Given the description of an element on the screen output the (x, y) to click on. 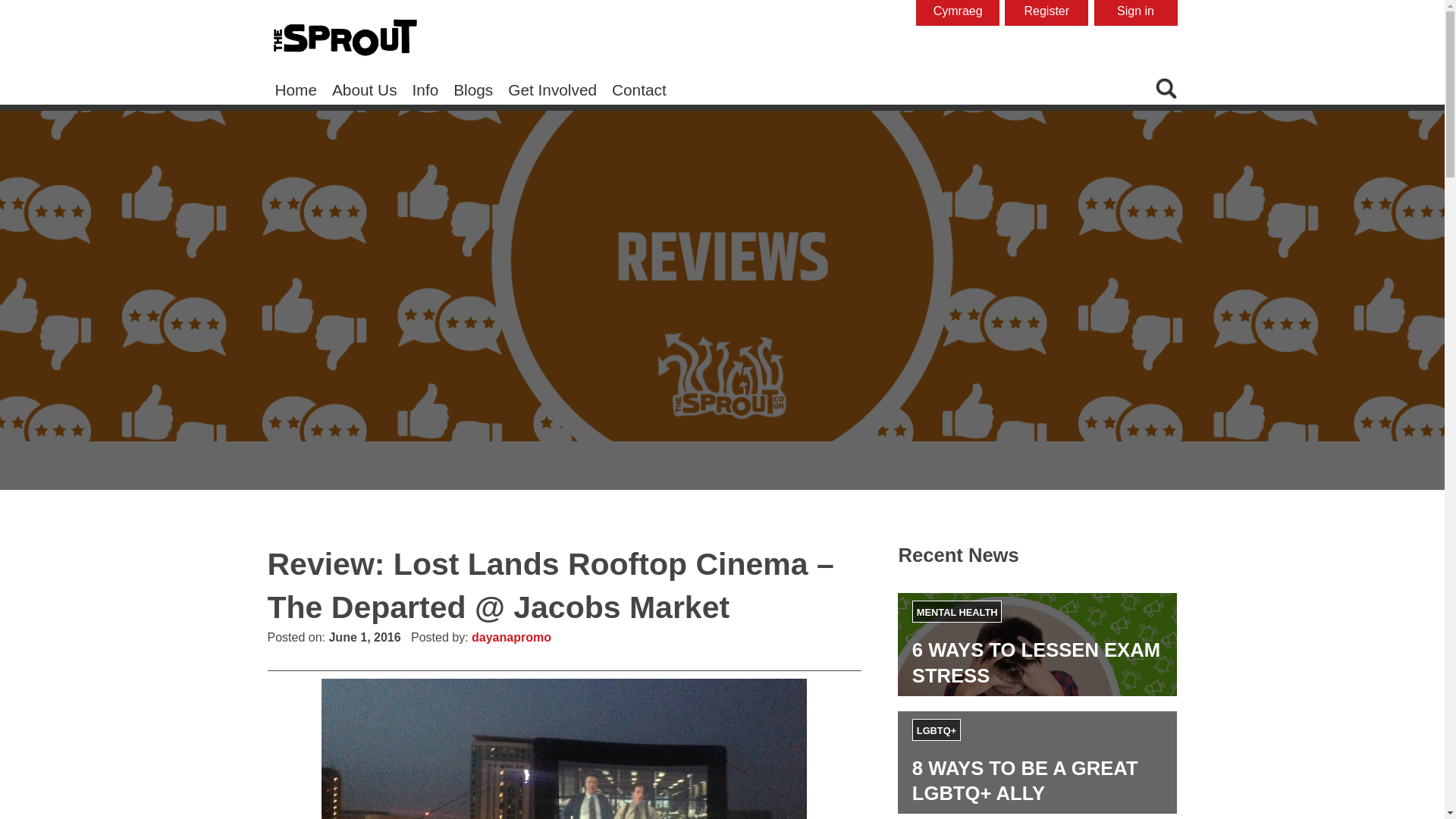
MENTAL HEALTH (957, 611)
Search (1107, 54)
Posts by dayanapromo (511, 636)
About Us (364, 89)
Search (1107, 54)
6 Ways To Lessen Exam Stress (1036, 662)
Get Involved (552, 89)
TheSprout :  (344, 38)
TheSprout :  (344, 38)
Blogs (472, 89)
